Given the description of an element on the screen output the (x, y) to click on. 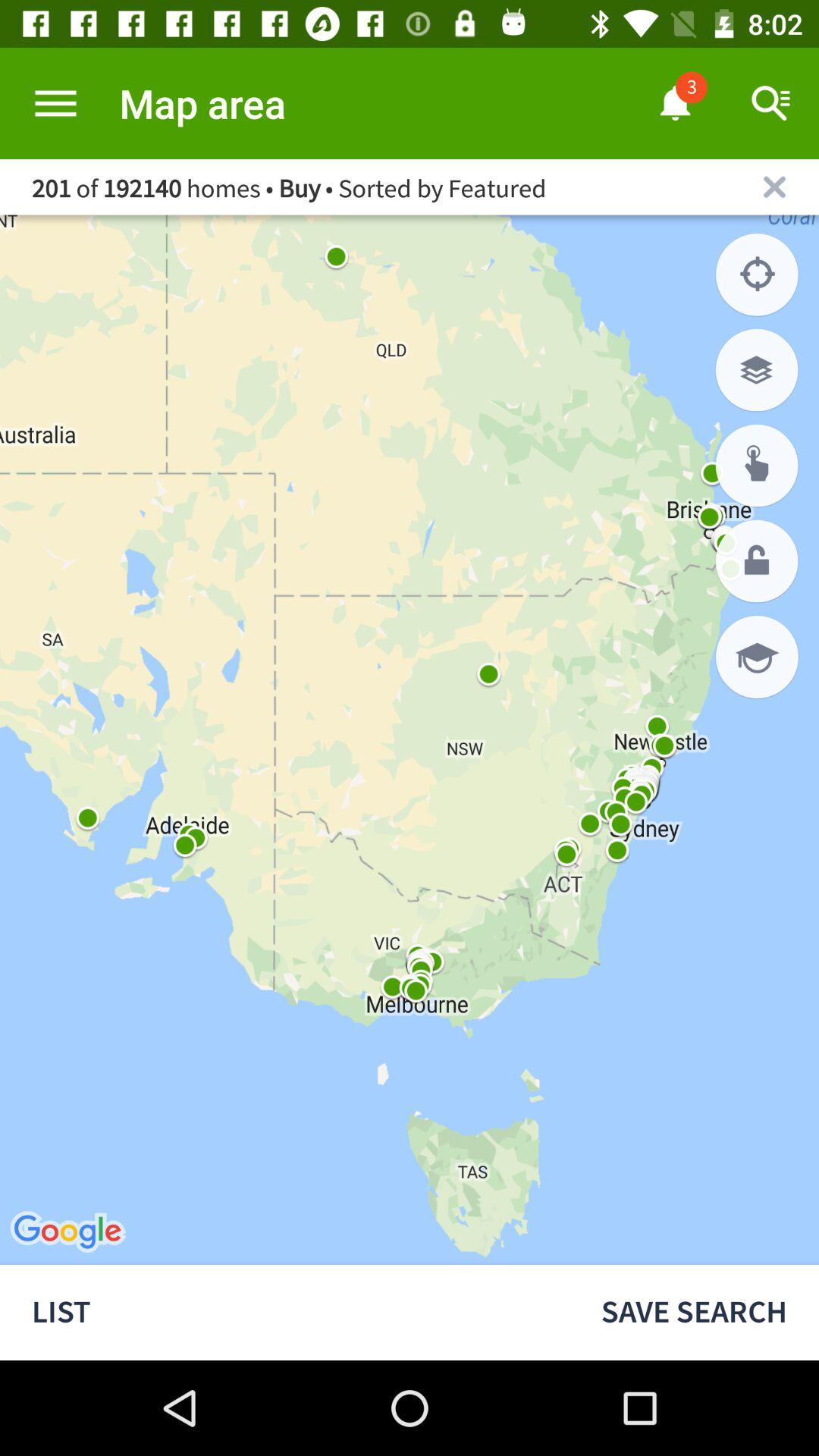
locate address (756, 465)
